Given the description of an element on the screen output the (x, y) to click on. 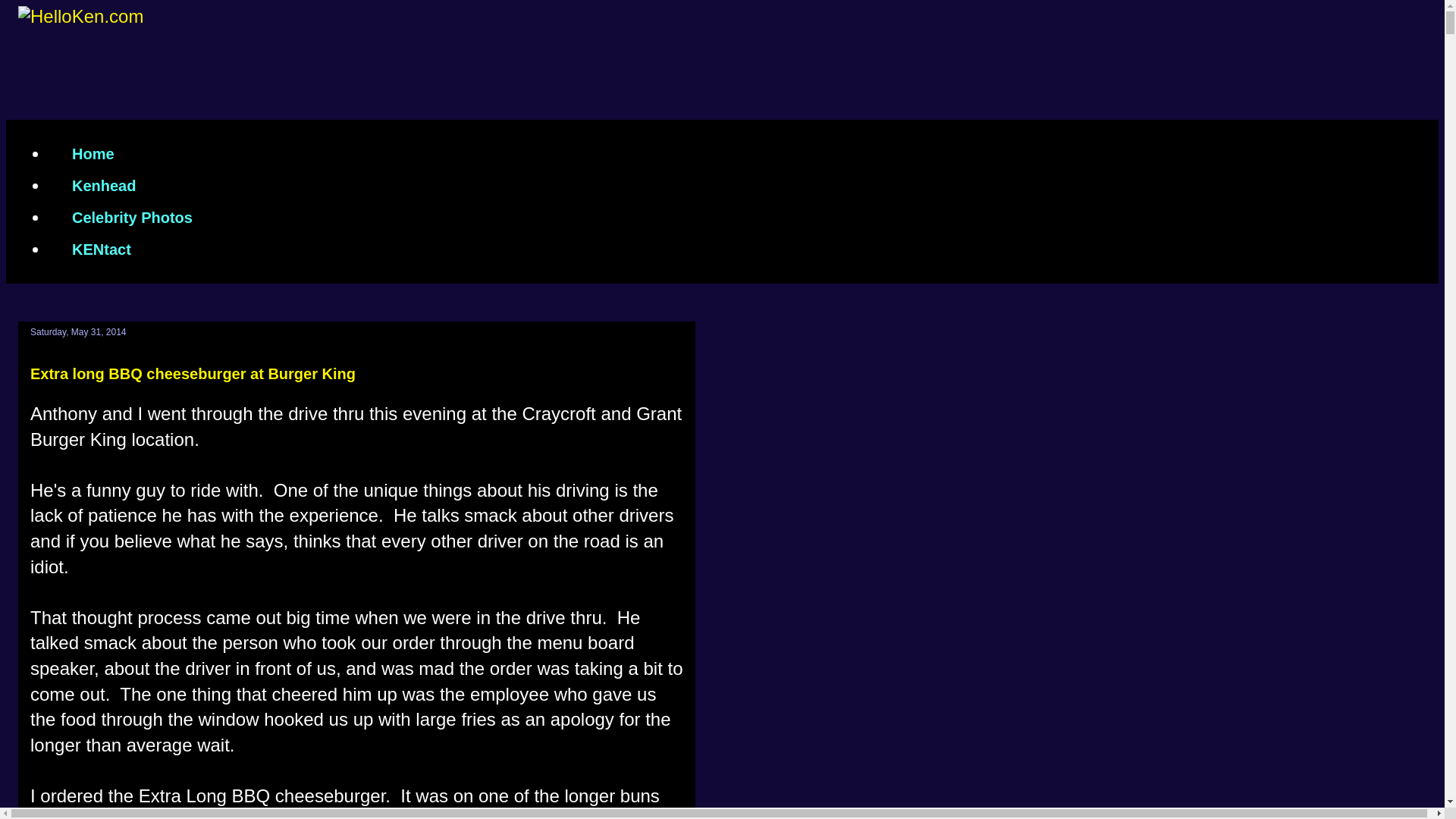
Extra long BBQ cheeseburger at Burger King (192, 373)
KENtact (101, 249)
Kenhead (103, 185)
Celebrity Photos (131, 217)
Home (92, 153)
